Given the description of an element on the screen output the (x, y) to click on. 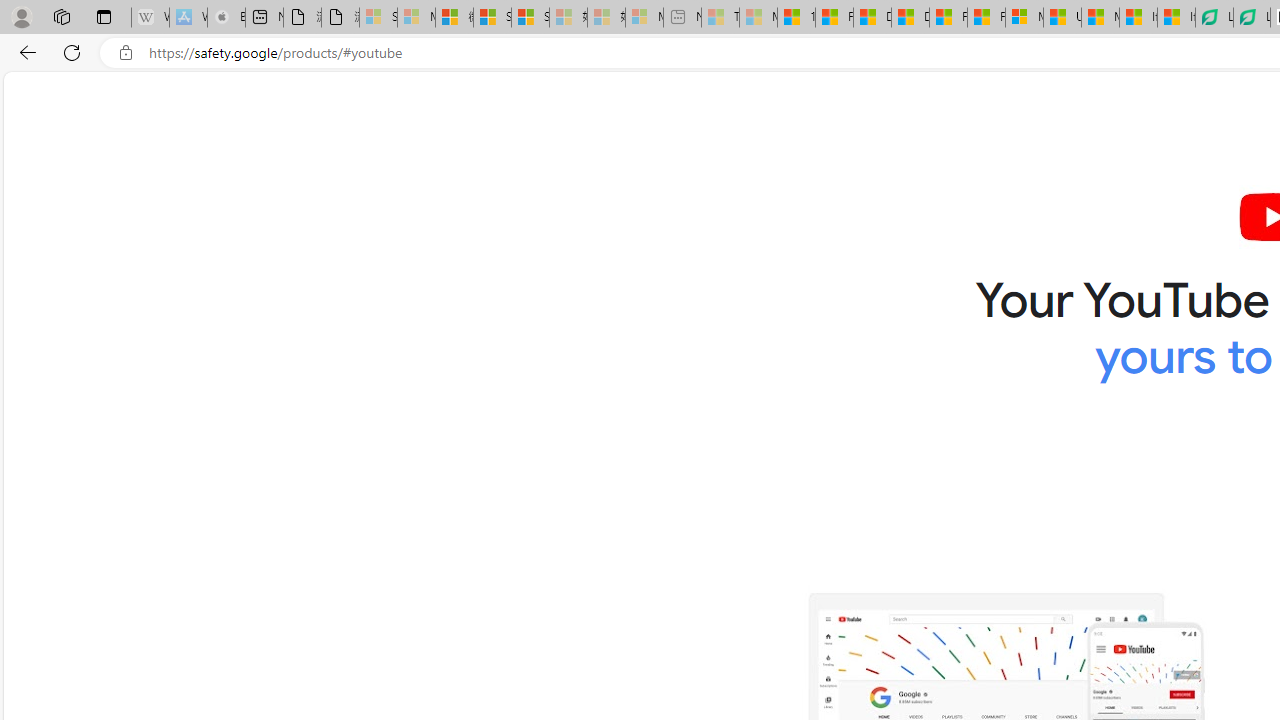
Buy iPad - Apple - Sleeping (225, 17)
Microsoft account | Account Checkup - Sleeping (644, 17)
New tab - Sleeping (682, 17)
Wikipedia - Sleeping (149, 17)
Microsoft Services Agreement - Sleeping (416, 17)
Marine life - MSN - Sleeping (757, 17)
Drinking tea every day is proven to delay biological aging (910, 17)
